Given the description of an element on the screen output the (x, y) to click on. 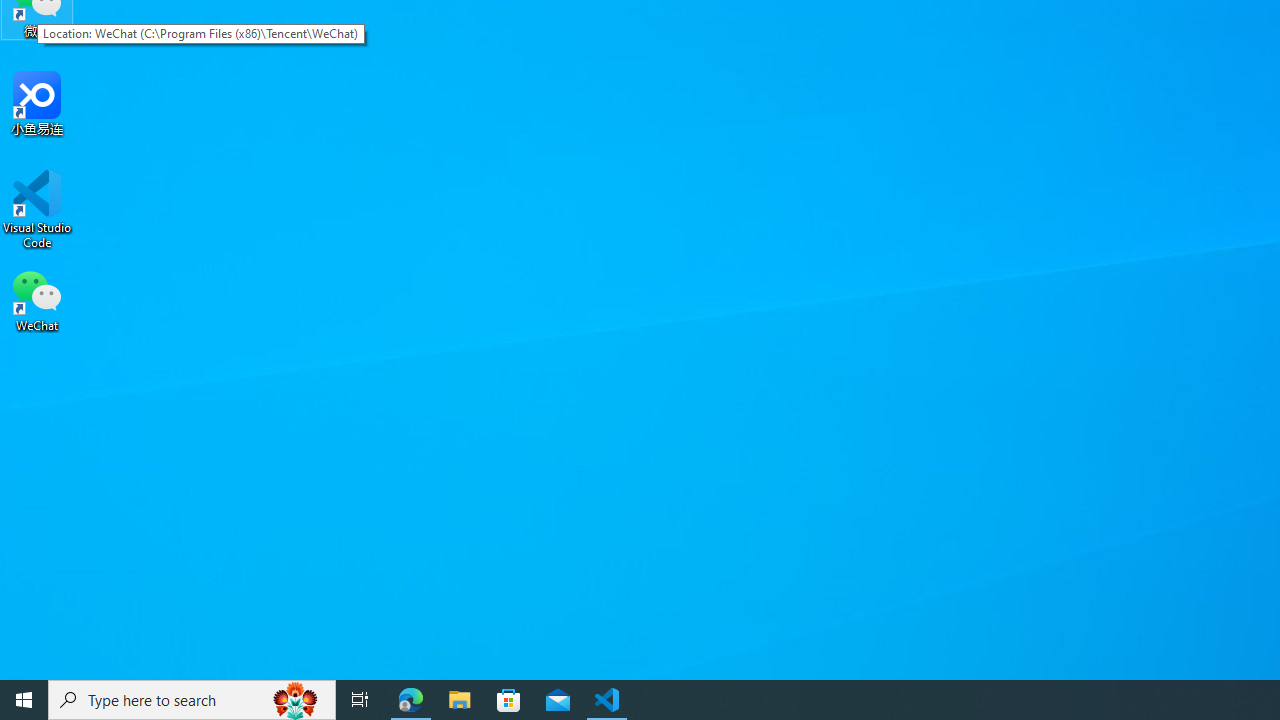
File Explorer (460, 699)
Start (24, 699)
WeChat (37, 299)
Type here to search (191, 699)
Microsoft Store (509, 699)
Task View (359, 699)
Visual Studio Code (37, 209)
Search highlights icon opens search home window (295, 699)
Microsoft Edge - 1 running window (411, 699)
Visual Studio Code - 1 running window (607, 699)
